Given the description of an element on the screen output the (x, y) to click on. 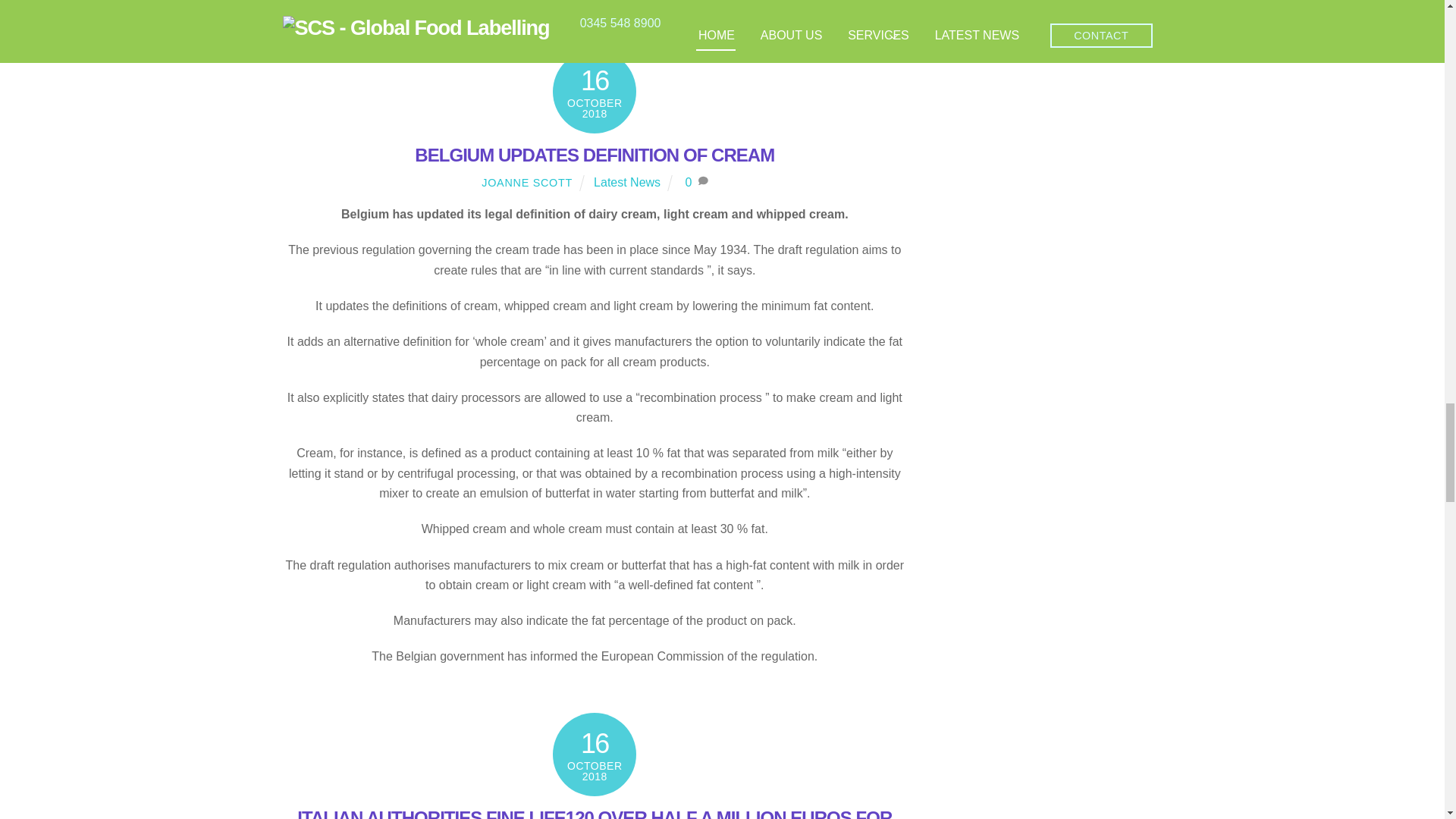
BELGIUM UPDATES DEFINITION OF CREAM (594, 154)
JOANNE SCOTT (526, 182)
Latest News (627, 182)
